Given the description of an element on the screen output the (x, y) to click on. 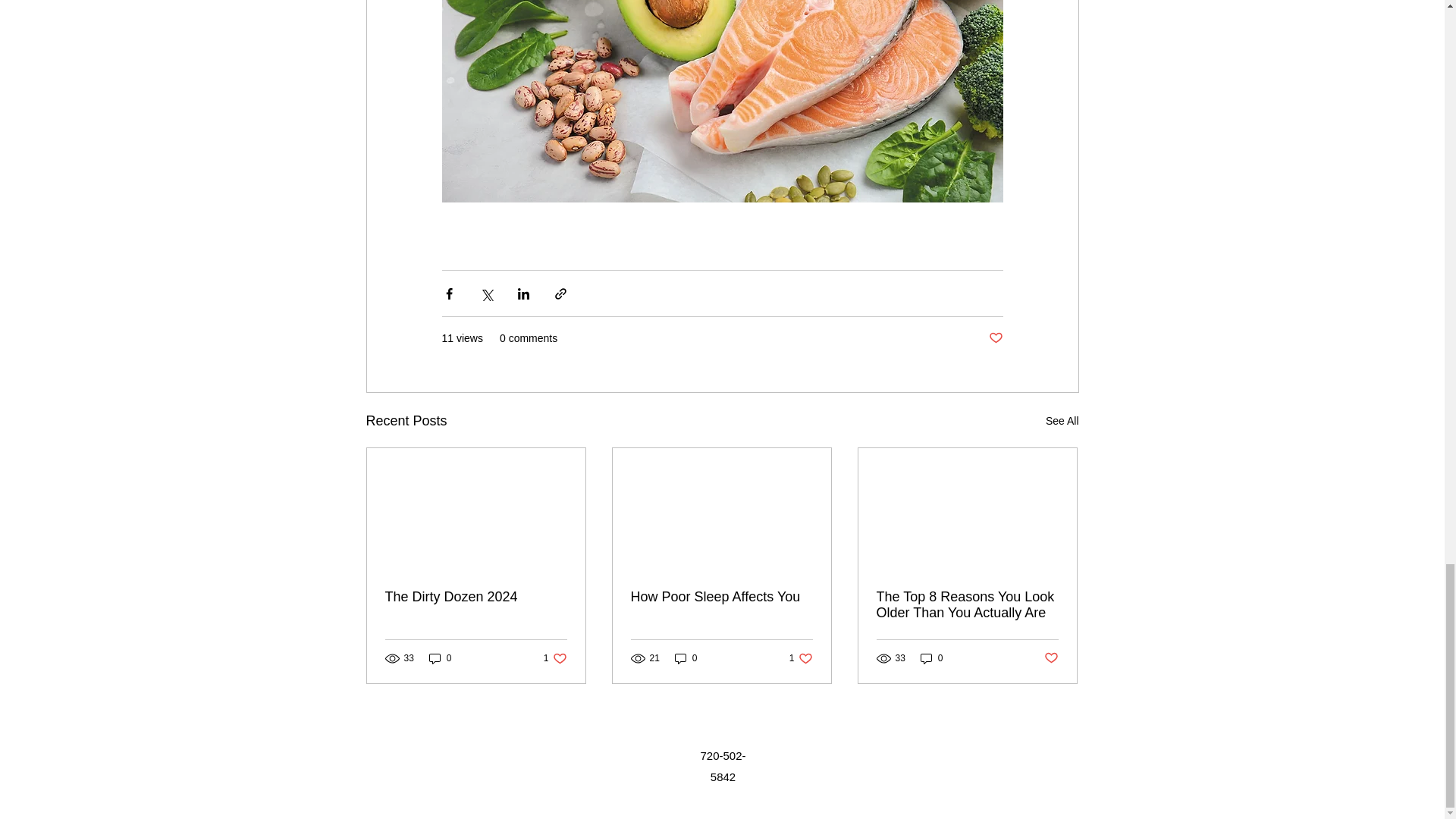
How Poor Sleep Affects You (721, 596)
0 (440, 658)
Post not marked as liked (995, 338)
The Dirty Dozen 2024 (476, 596)
See All (1061, 421)
0 (555, 658)
